Given the description of an element on the screen output the (x, y) to click on. 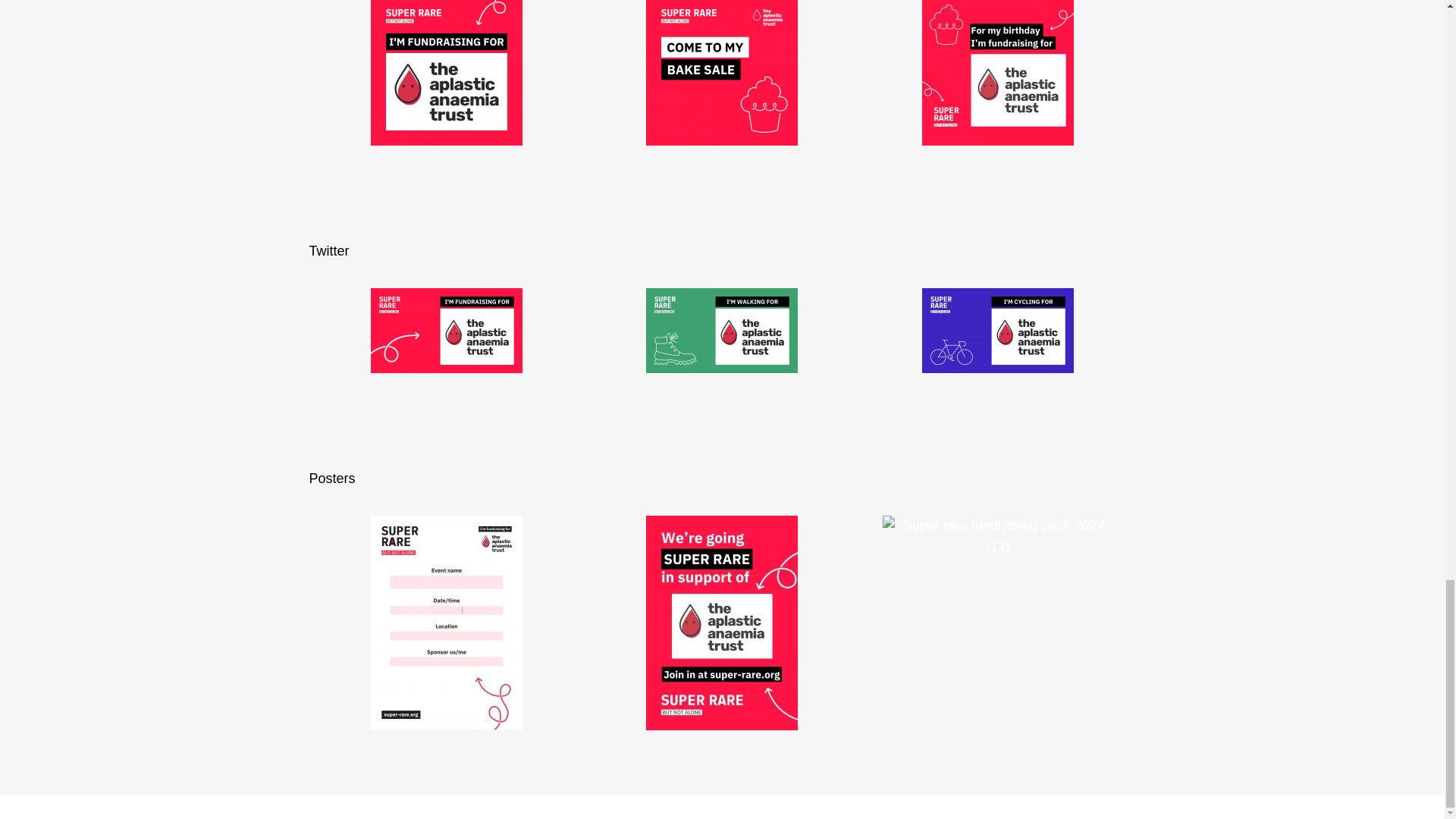
5 (721, 72)
1 (446, 330)
4 (997, 330)
1 (446, 72)
15 (997, 72)
3 (721, 330)
